Given the description of an element on the screen output the (x, y) to click on. 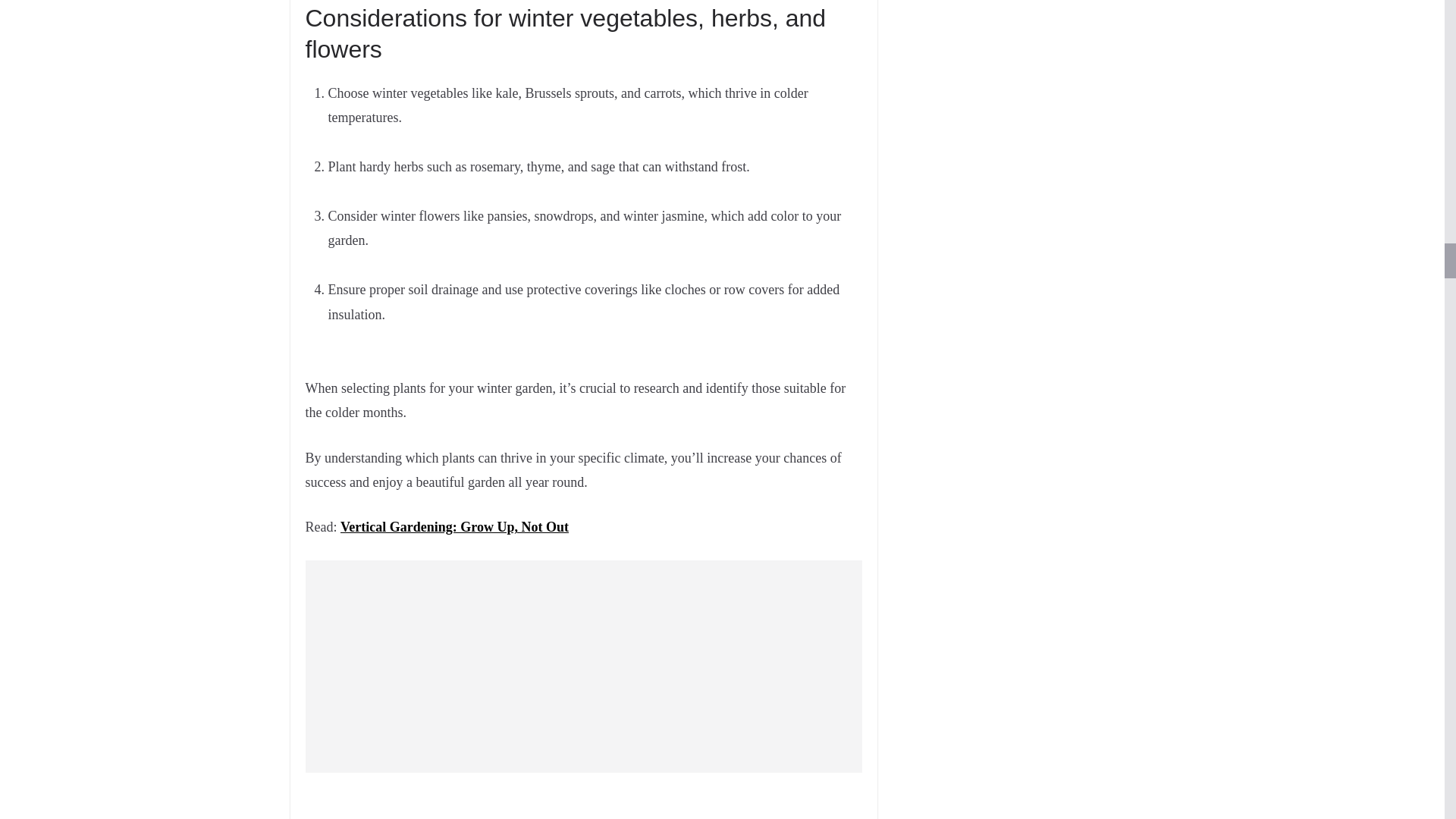
Vertical Gardening: Grow Up, Not Out (454, 526)
